Given the description of an element on the screen output the (x, y) to click on. 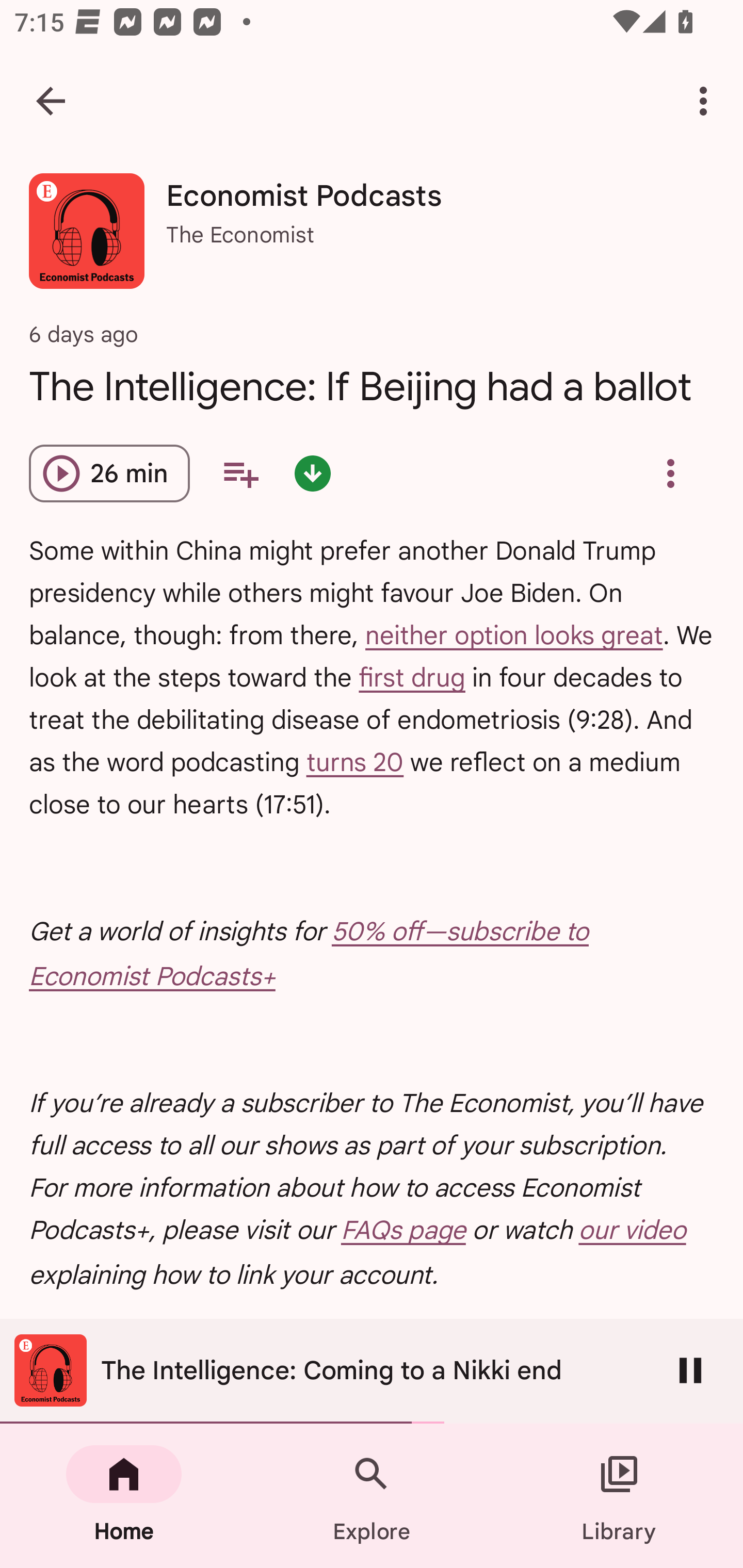
Navigate up (50, 101)
More options (706, 101)
Add to your queue (240, 473)
Episode downloaded - double tap for options (312, 473)
Overflow menu (670, 473)
Pause (690, 1370)
Explore (371, 1495)
Library (619, 1495)
